Given the description of an element on the screen output the (x, y) to click on. 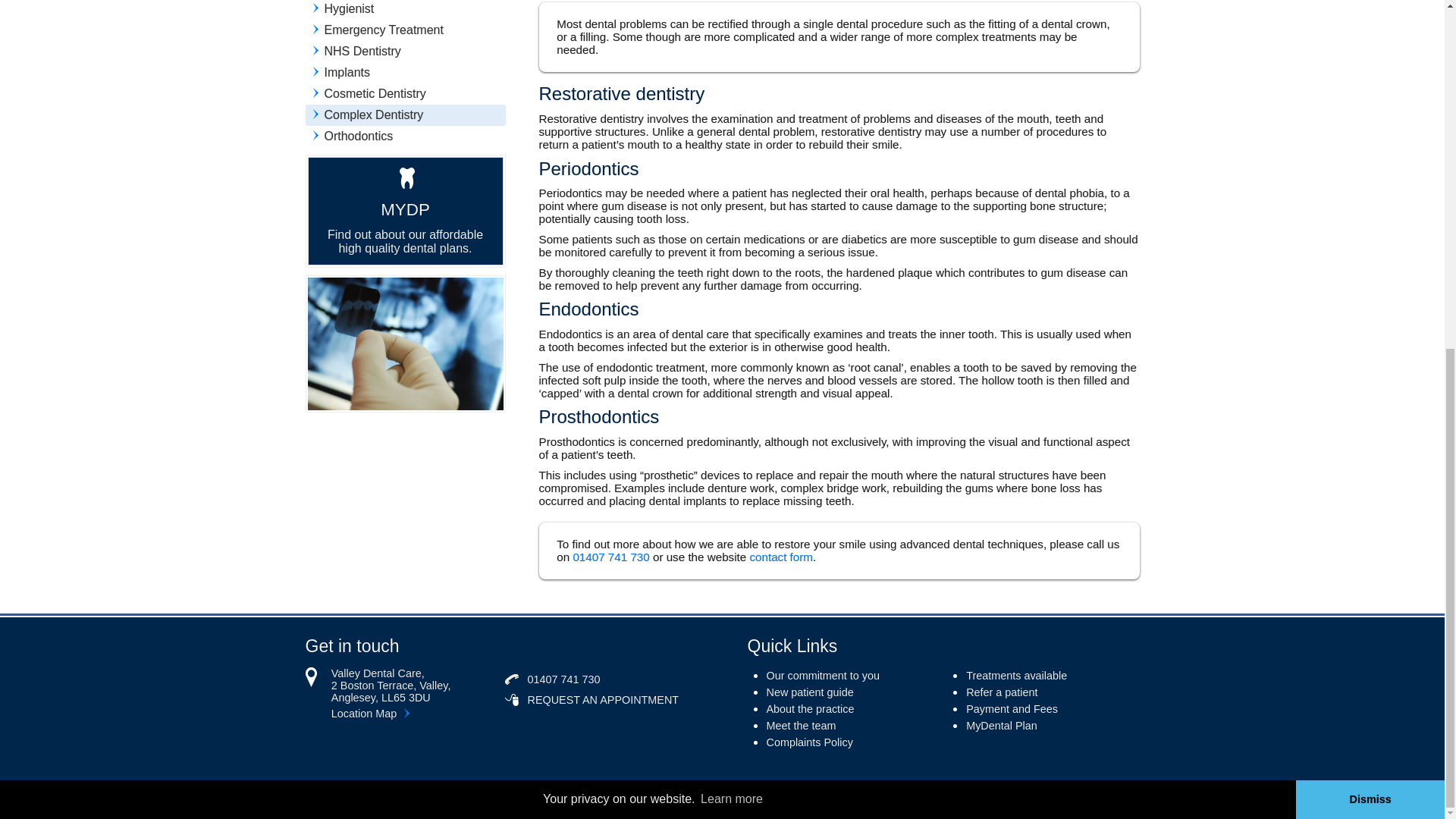
Learn more (731, 197)
Hygienist (404, 9)
01407 741 730 (610, 556)
Cosmetic Dentistry (404, 93)
contact form (778, 556)
Implants (404, 71)
Emergency Treatment (404, 29)
NHS Dentistry (404, 50)
